Given the description of an element on the screen output the (x, y) to click on. 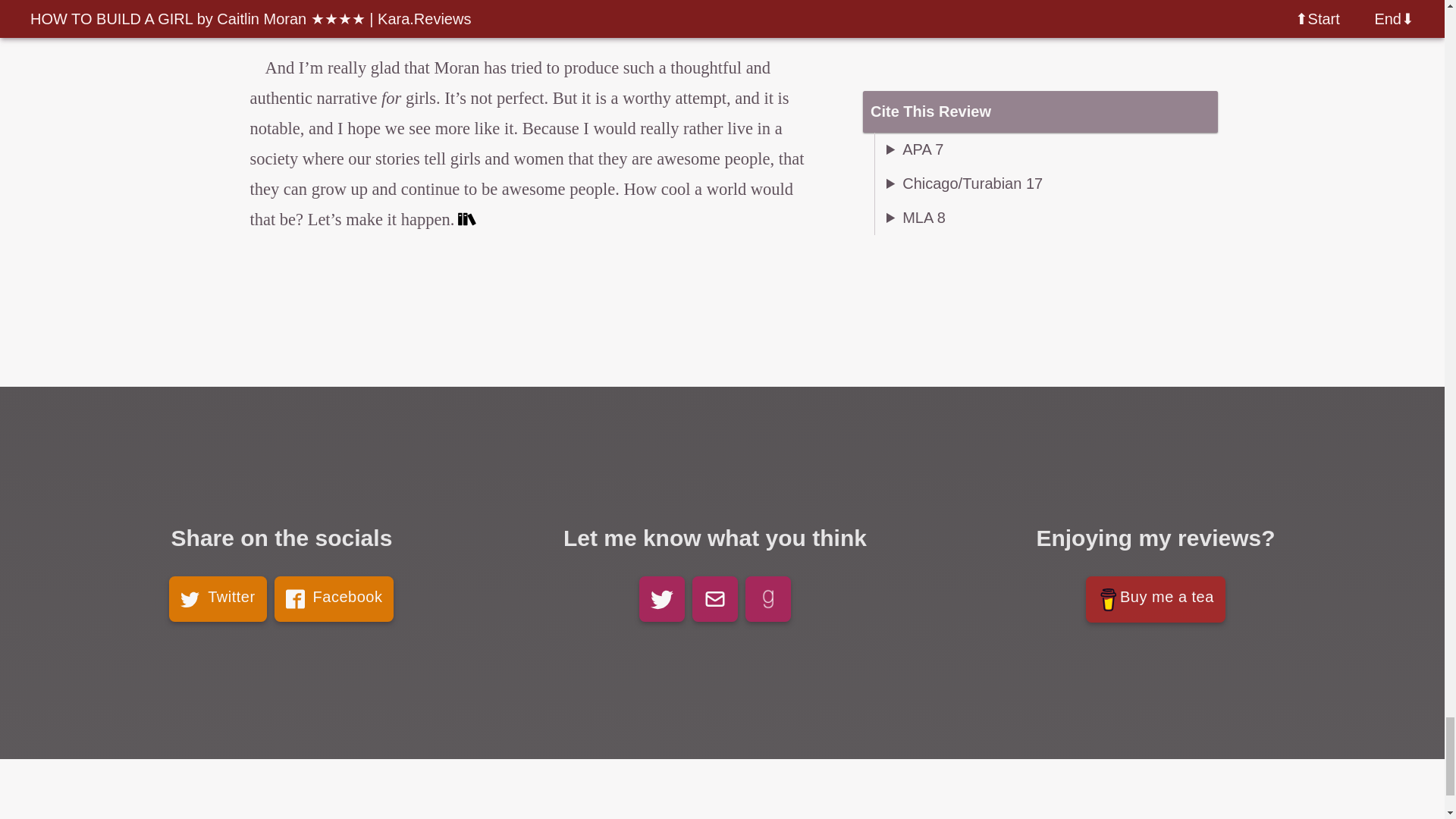
Email me (715, 598)
Twitter (217, 598)
Buy me a tea (1155, 599)
Talk to me on Twitter (661, 598)
Facebook (334, 598)
